Given the description of an element on the screen output the (x, y) to click on. 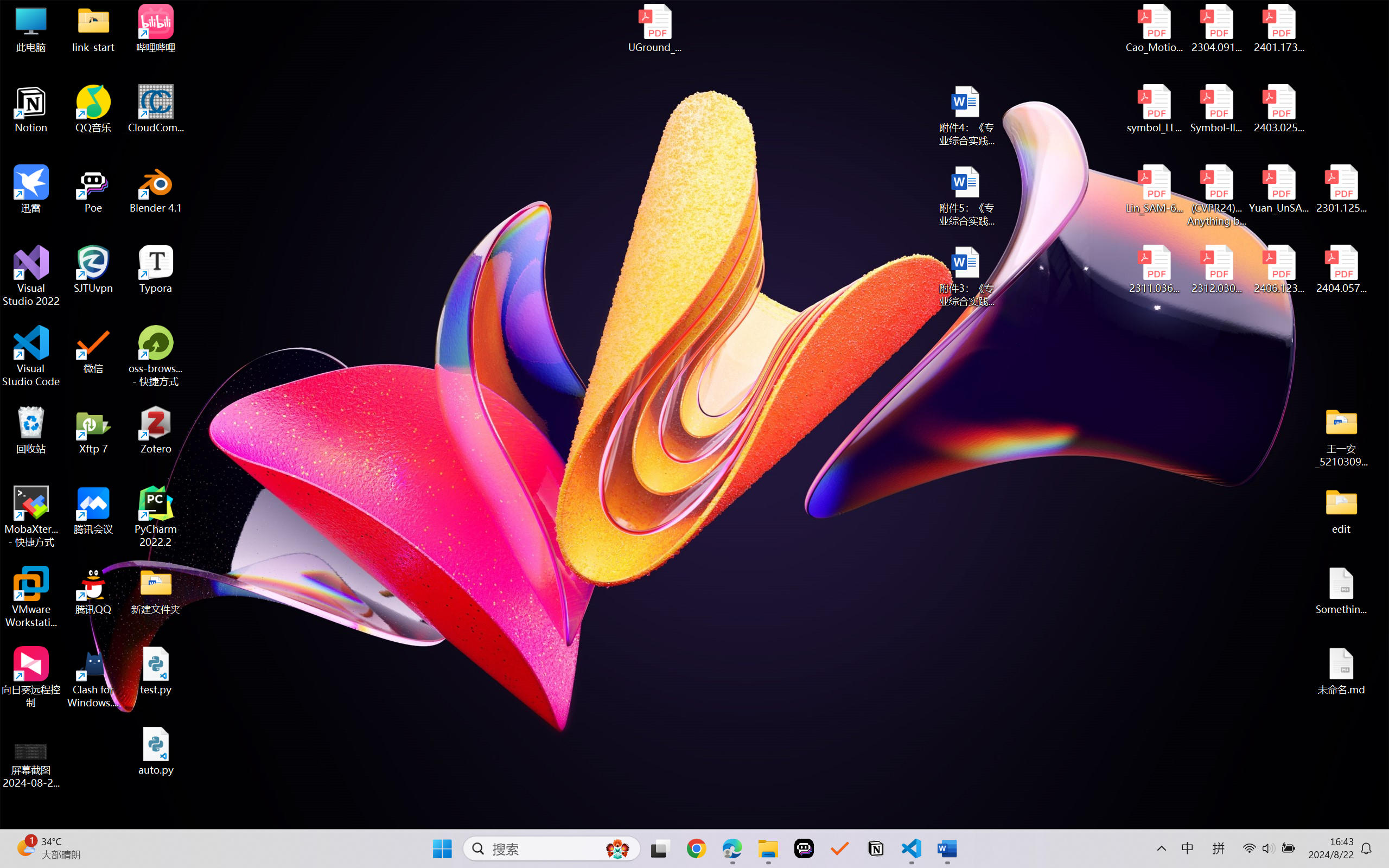
Google Chrome (696, 848)
2401.17399v1.pdf (1278, 28)
Typora (156, 269)
CloudCompare (156, 109)
2312.03032v2.pdf (1216, 269)
2404.05719v1.pdf (1340, 269)
